Given the description of an element on the screen output the (x, y) to click on. 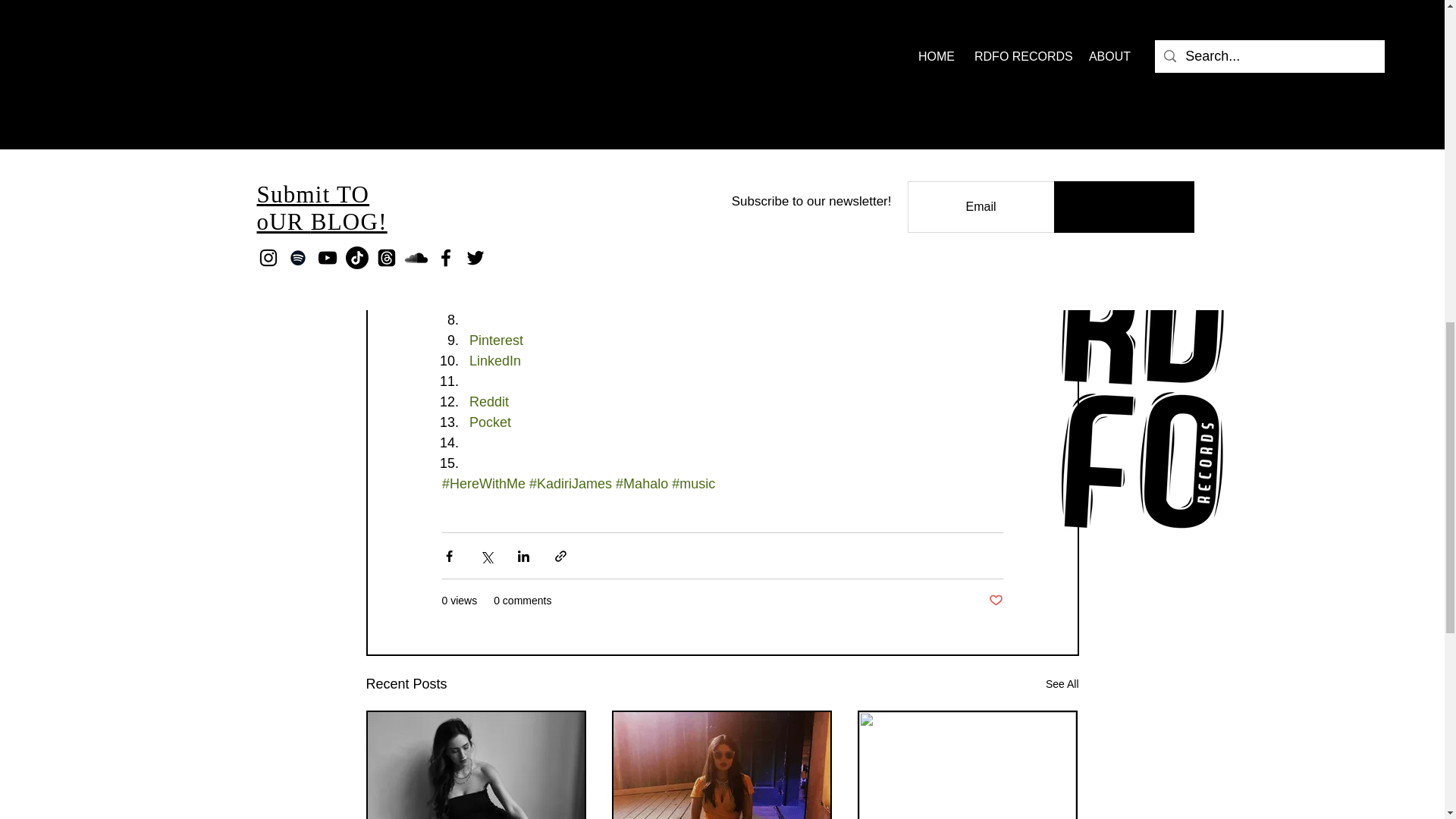
See All (1061, 684)
Email (485, 176)
Tumblr (489, 299)
Pinterest (495, 340)
Pocket (489, 421)
Twitter (488, 217)
More (483, 237)
Facebook (498, 196)
Print (482, 278)
Post not marked as liked (995, 600)
